Given the description of an element on the screen output the (x, y) to click on. 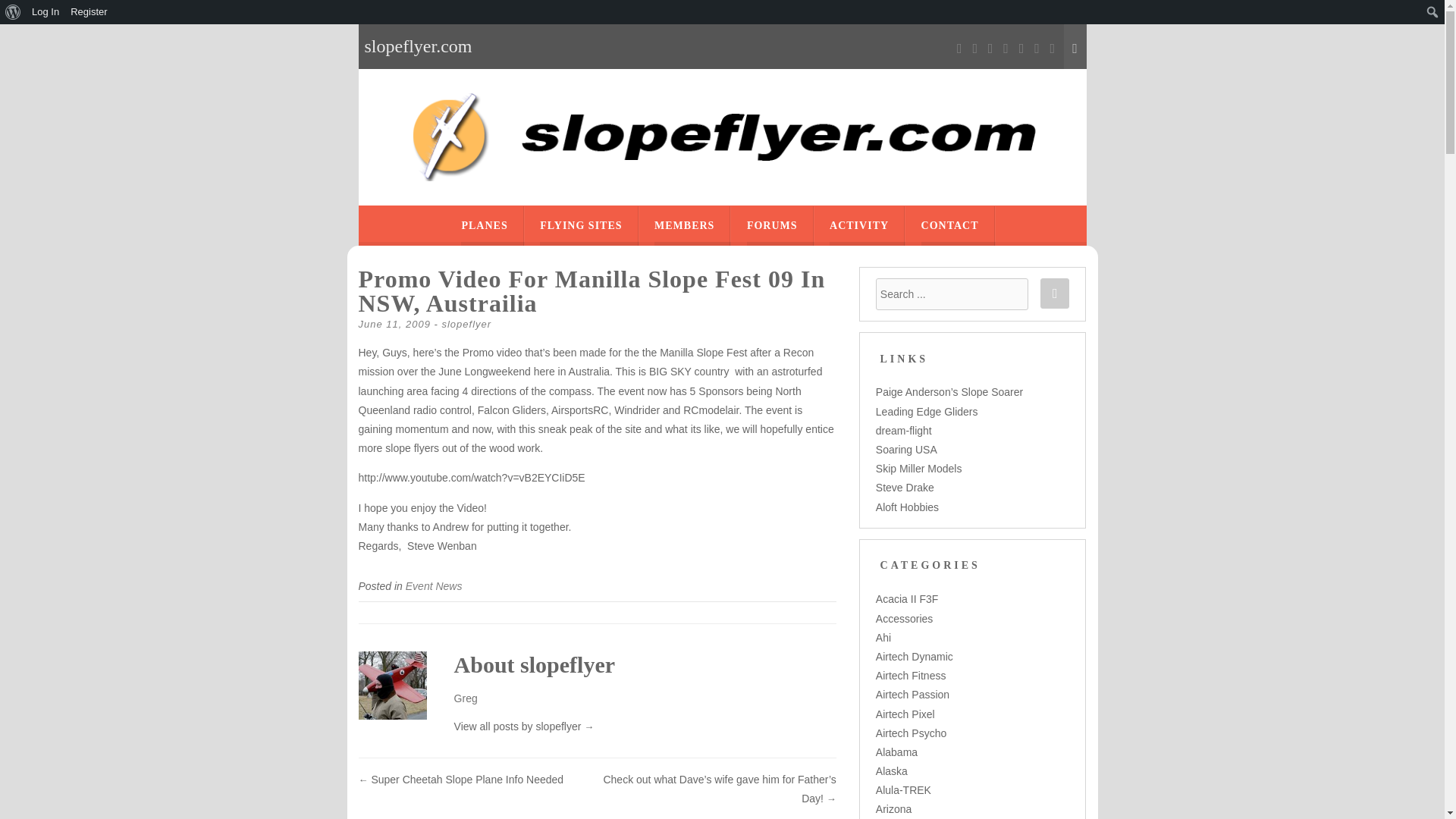
CONTACT (949, 225)
ACTIVITY (858, 225)
FLYING SITES (580, 225)
June 11, 2009 (393, 324)
MEMBERS (683, 225)
PLANES (483, 225)
FORUMS (771, 225)
